Given the description of an element on the screen output the (x, y) to click on. 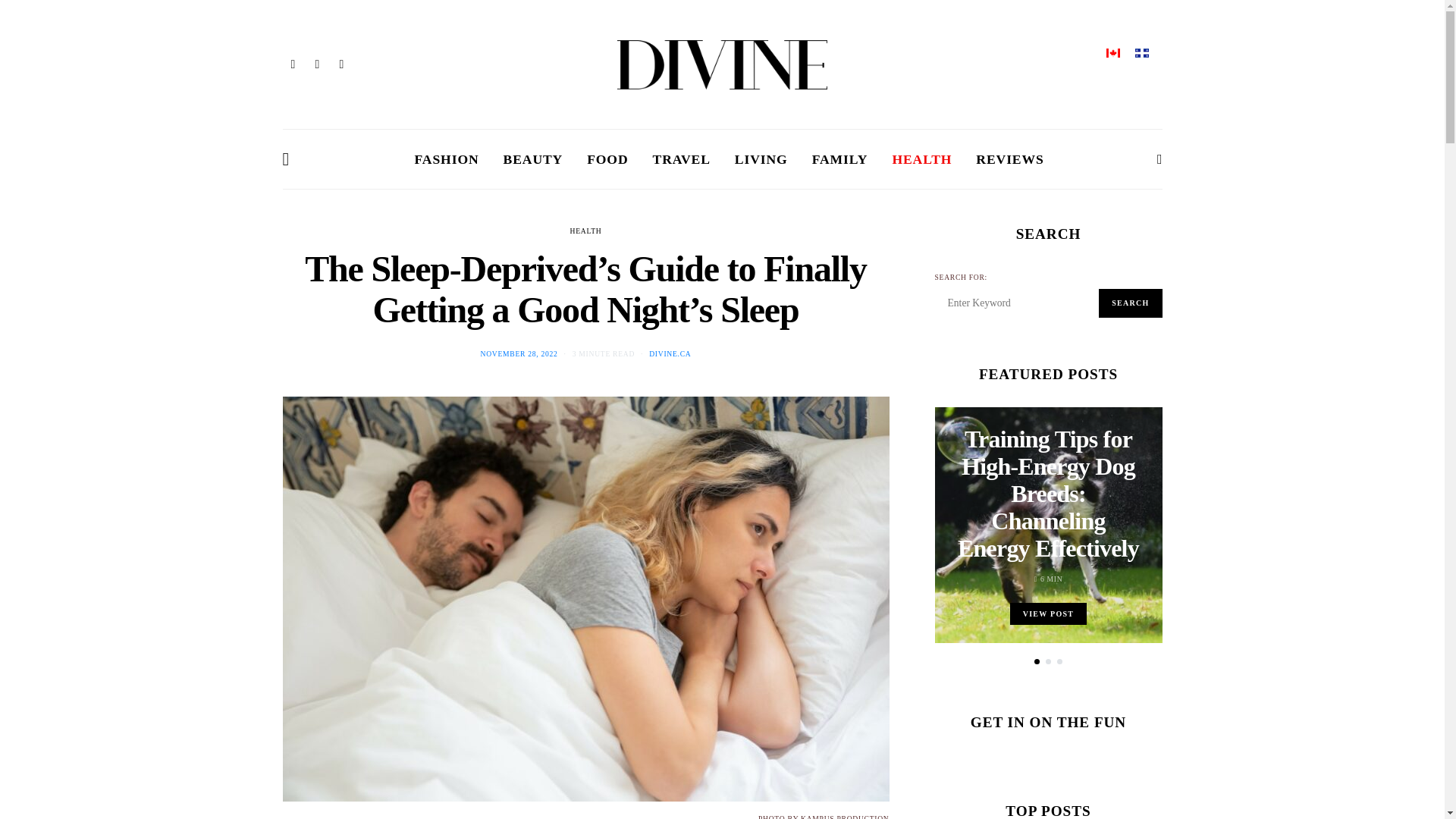
NOVEMBER 28, 2022 (518, 353)
HEALTH (586, 230)
LIVING (761, 159)
TRAVEL (681, 159)
FASHION (446, 159)
FAMILY (839, 159)
HEALTH (921, 159)
View all posts by divine.ca (669, 353)
REVIEWS (1009, 159)
BEAUTY (533, 159)
